Given the description of an element on the screen output the (x, y) to click on. 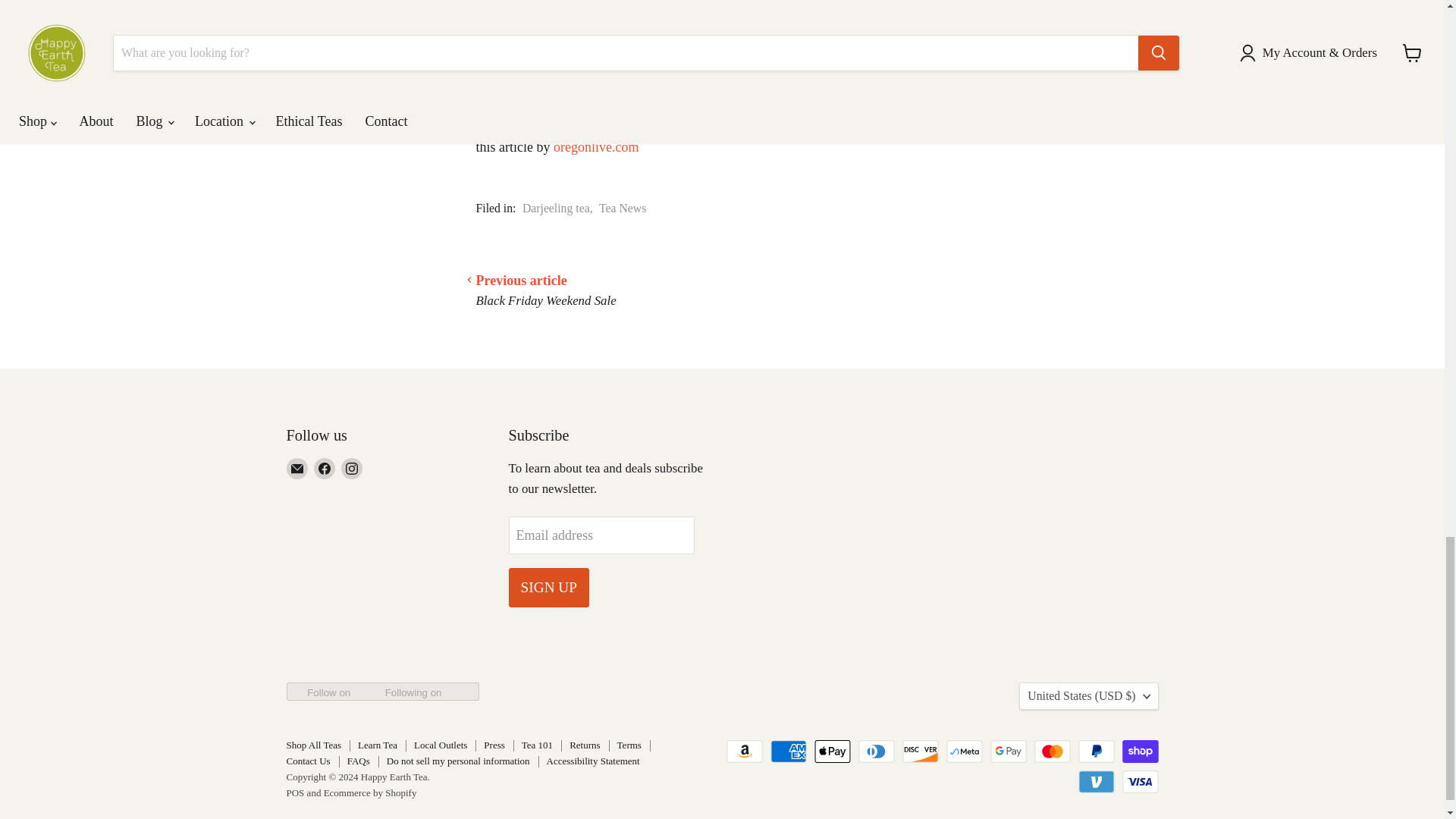
Amazon (744, 751)
Show articles tagged Darjeeling tea (555, 207)
Show articles tagged Tea News (622, 207)
Discover (920, 751)
American Express (788, 751)
Email (296, 468)
Diners Club (877, 751)
Apple Pay (831, 751)
Facebook (324, 468)
Instagram (351, 468)
